Given the description of an element on the screen output the (x, y) to click on. 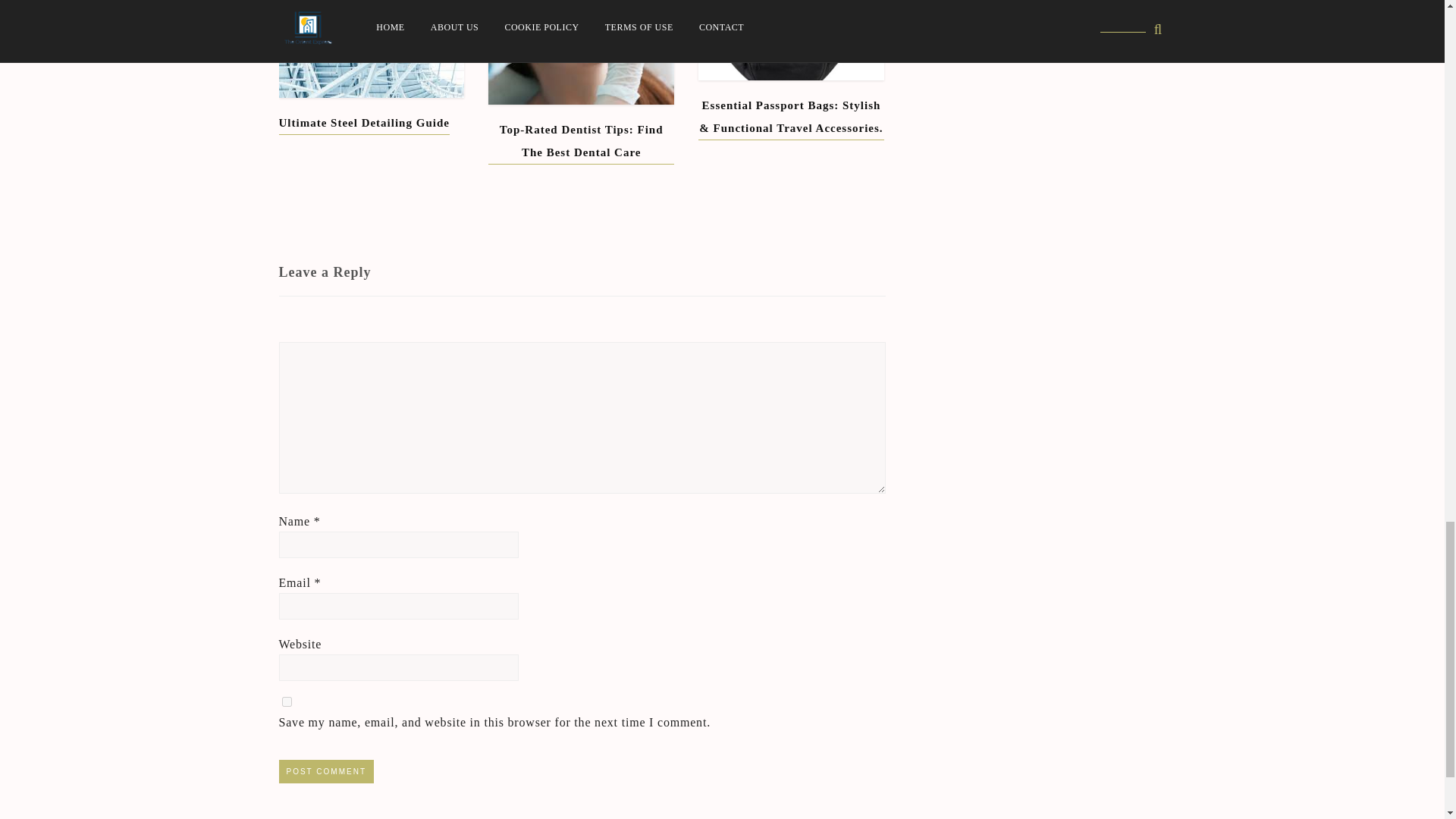
Ultimate Steel Detailing Guide (364, 122)
Post Comment (326, 771)
Top-Rated Dentist Tips: Find The Best Dental Care (581, 140)
Post Comment (326, 771)
yes (287, 701)
